Given the description of an element on the screen output the (x, y) to click on. 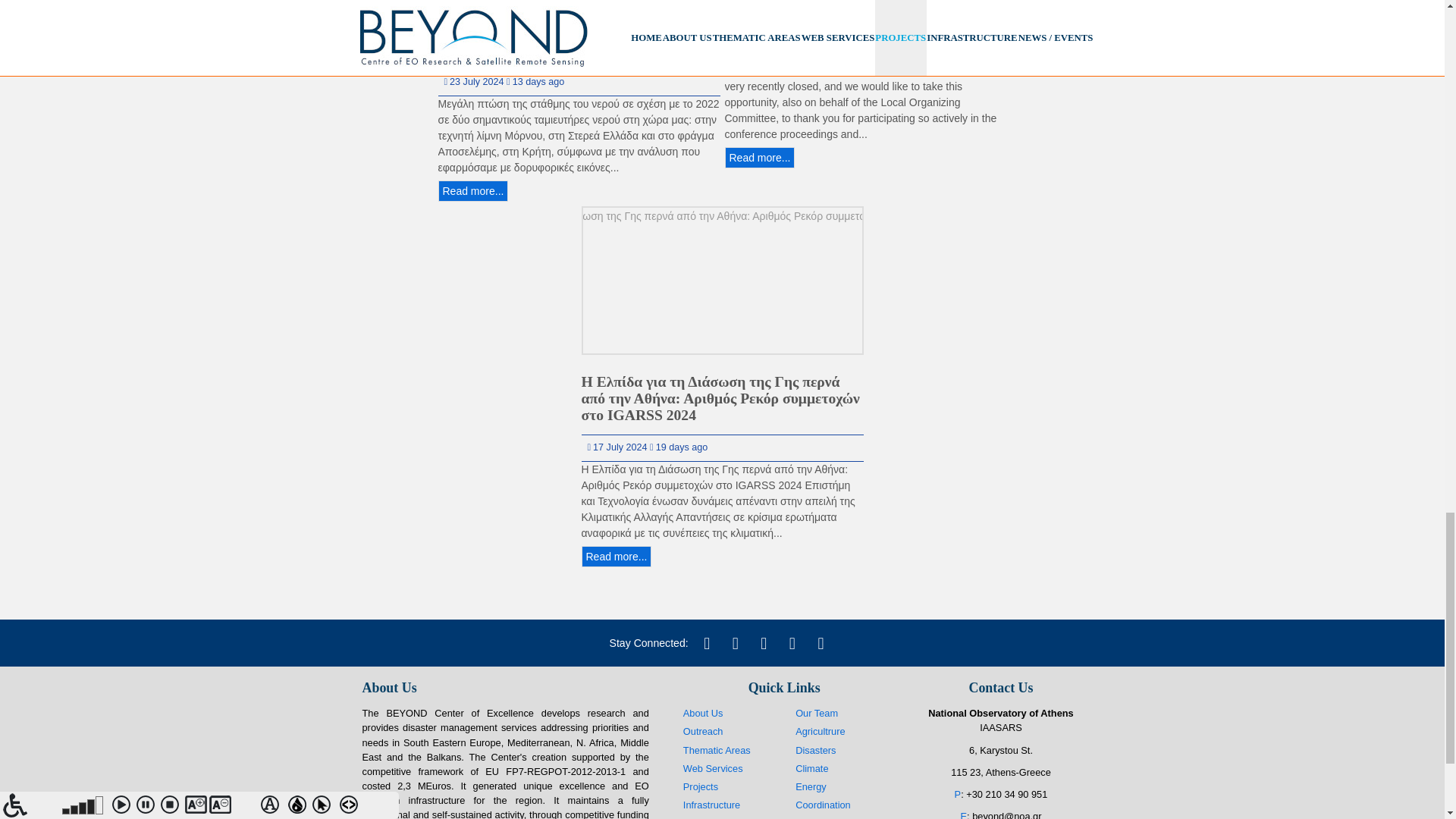
Linkedin (763, 642)
Instagram (791, 642)
Twitter (706, 642)
Youtube (820, 642)
Facebook (734, 642)
